Given the description of an element on the screen output the (x, y) to click on. 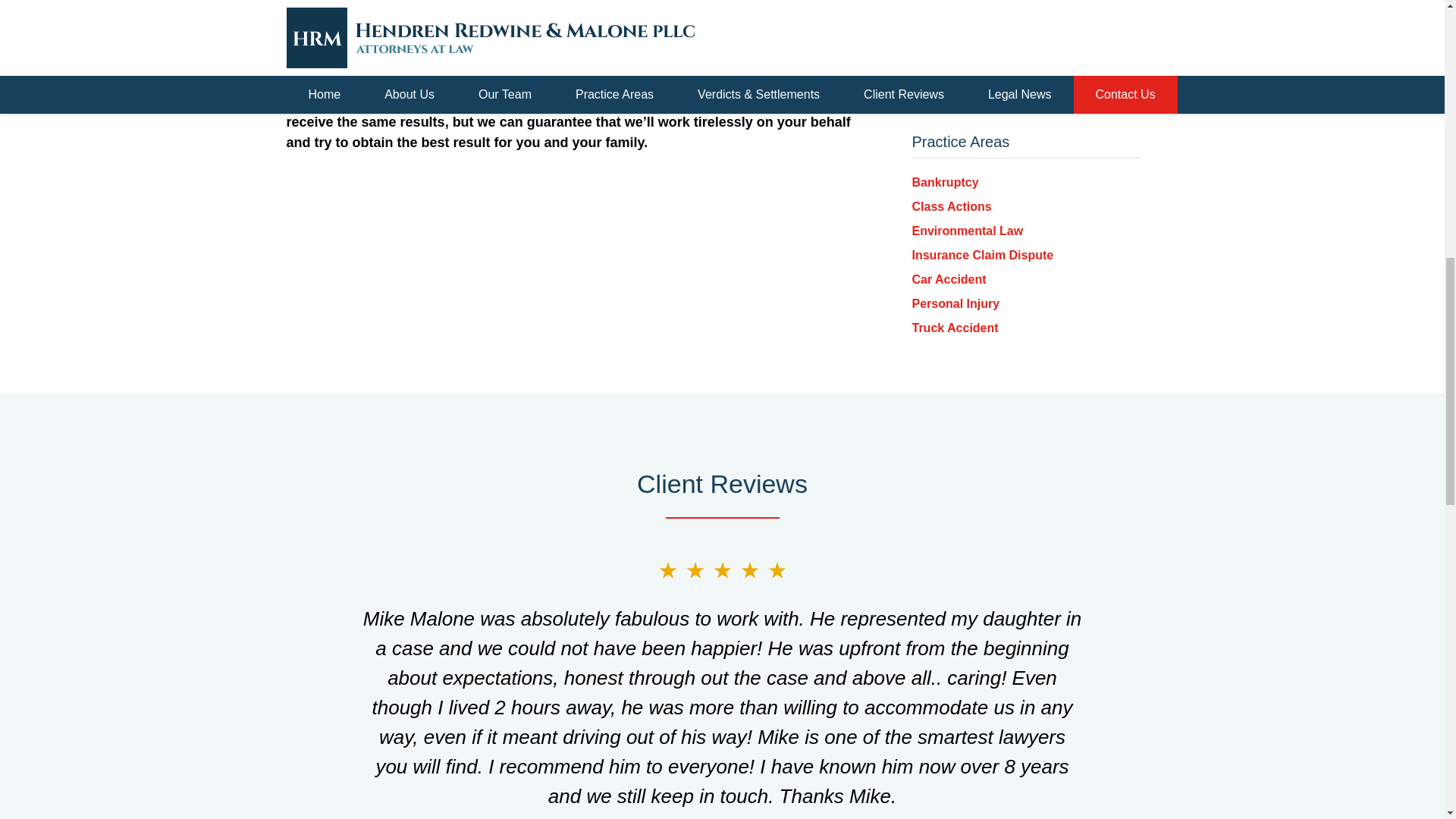
Bankruptcy (944, 182)
Practice Areas (960, 141)
Car Accident (948, 278)
Environmental Law (967, 230)
Insurance Claim Dispute (981, 254)
CONTACT US NOW (1024, 56)
Personal Injury (954, 303)
Class Actions (951, 205)
Truck Accident (954, 327)
